Given the description of an element on the screen output the (x, y) to click on. 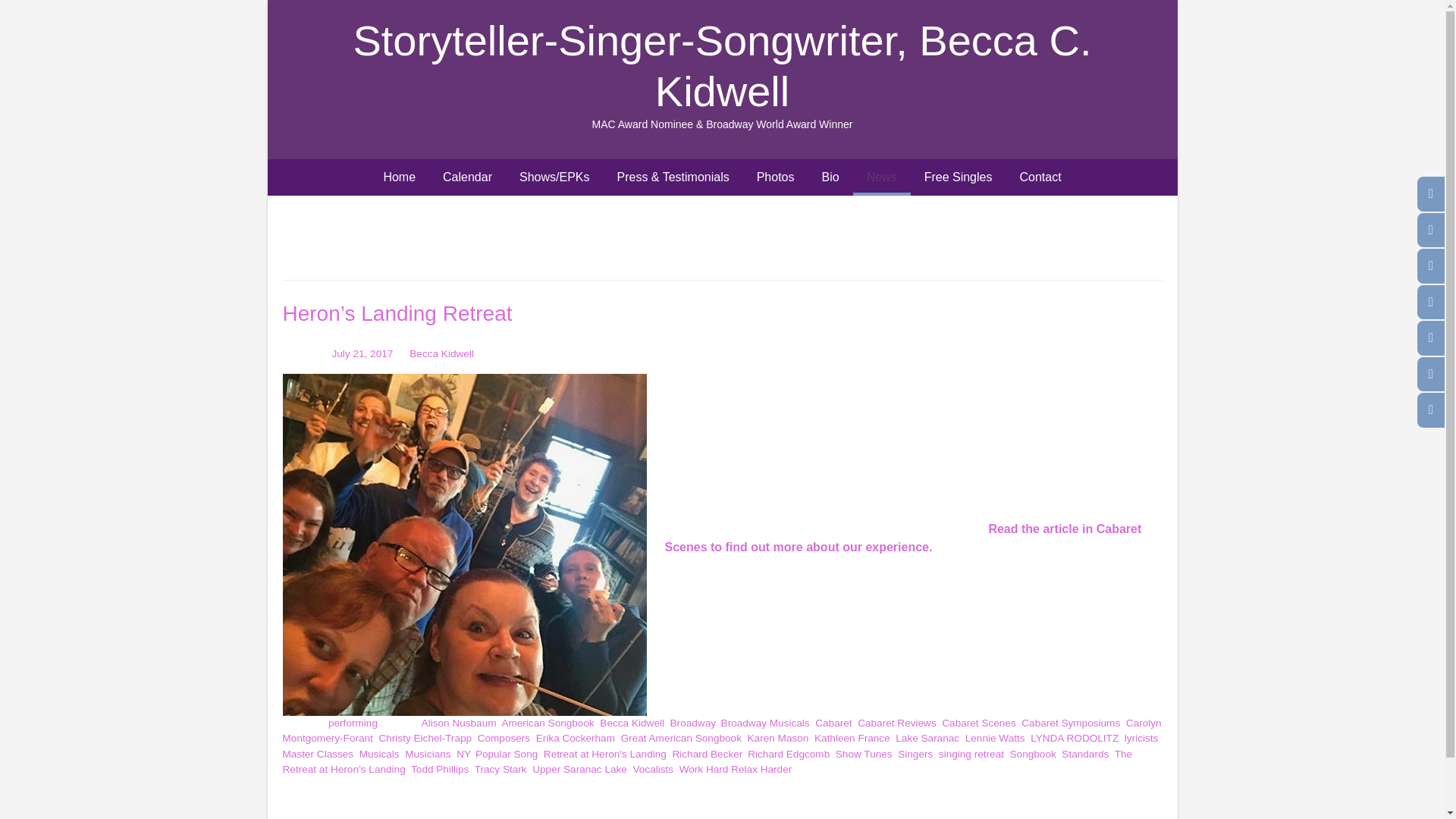
Contact (1040, 176)
Broadway (691, 722)
Becca Kidwell (441, 353)
Becca Kidwell (631, 722)
Calendar (467, 176)
Home (399, 176)
Composers (504, 737)
Cabaret Symposiums (1070, 722)
Cabaret (833, 722)
Storyteller-Singer-Songwriter, Becca C. Kidwell (721, 65)
Alison Nusbaum (459, 722)
Broadway Musicals (764, 722)
Photos (775, 176)
Carolyn Montgomery-Forant (721, 730)
